Given the description of an element on the screen output the (x, y) to click on. 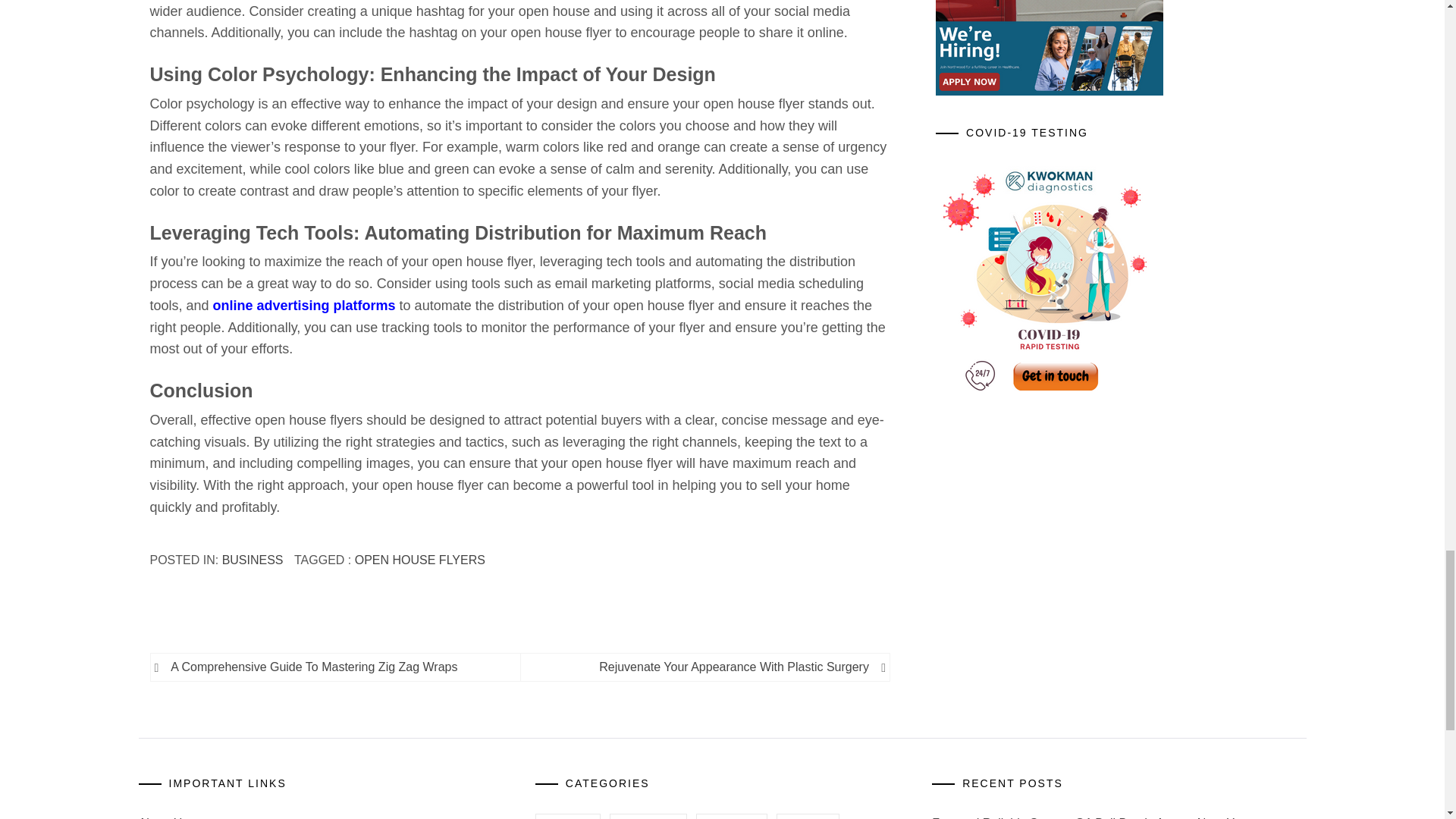
BUSINESS (252, 559)
online advertising platforms (304, 305)
A Comprehensive Guide To Mastering Zig Zag Wraps (337, 667)
Rejuvenate Your Appearance With Plastic Surgery (702, 667)
OPEN HOUSE FLYERS (419, 559)
